Given the description of an element on the screen output the (x, y) to click on. 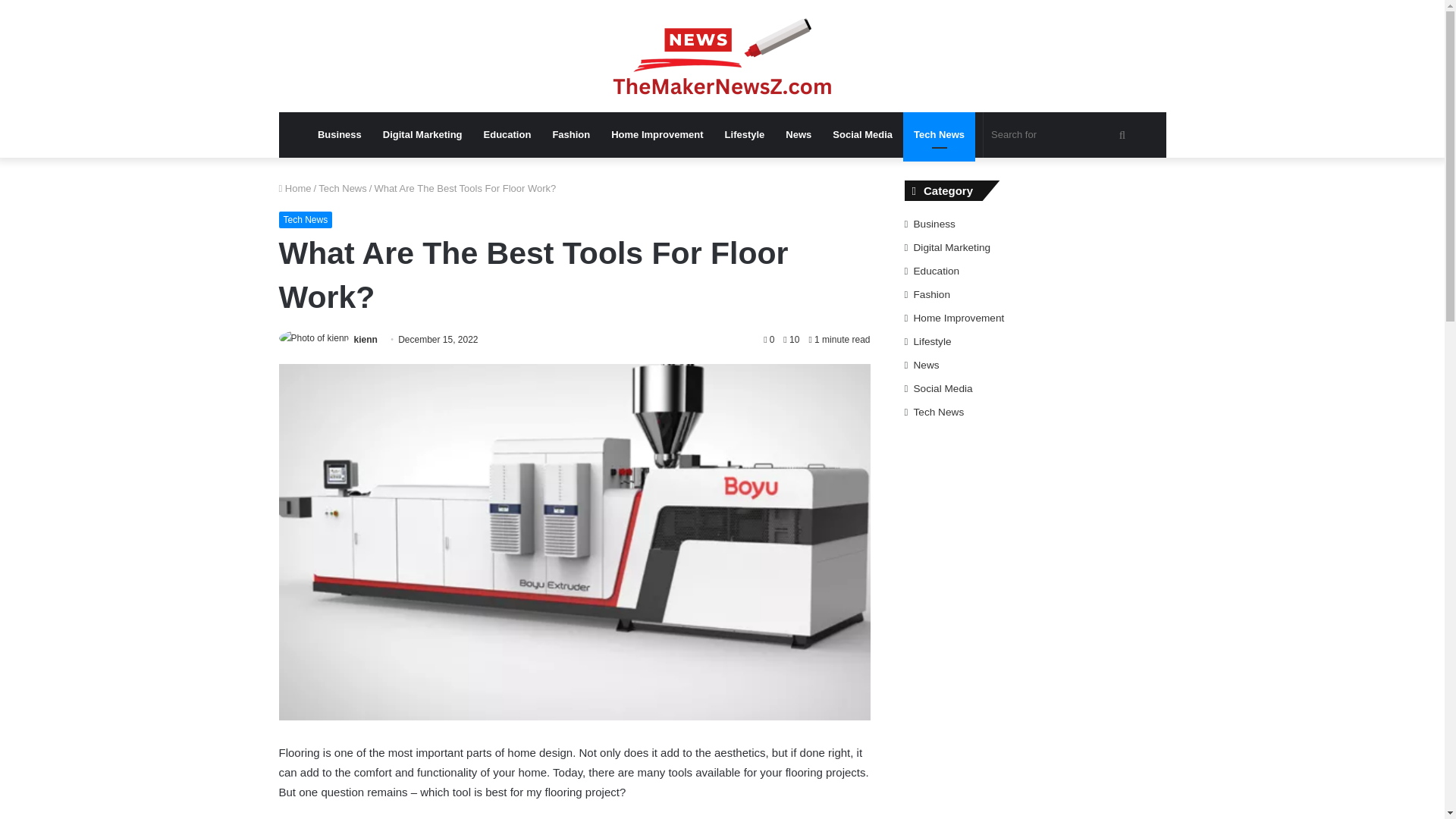
Themakernewsz.com (721, 56)
Tech News (306, 219)
Home (295, 188)
Tech News (342, 188)
News (798, 135)
kienn (365, 339)
Business (339, 135)
Home Improvement (656, 135)
Social Media (862, 135)
Tech News (938, 135)
Digital Marketing (422, 135)
kienn (365, 339)
Search for (1060, 135)
Education (507, 135)
Lifestyle (745, 135)
